Given the description of an element on the screen output the (x, y) to click on. 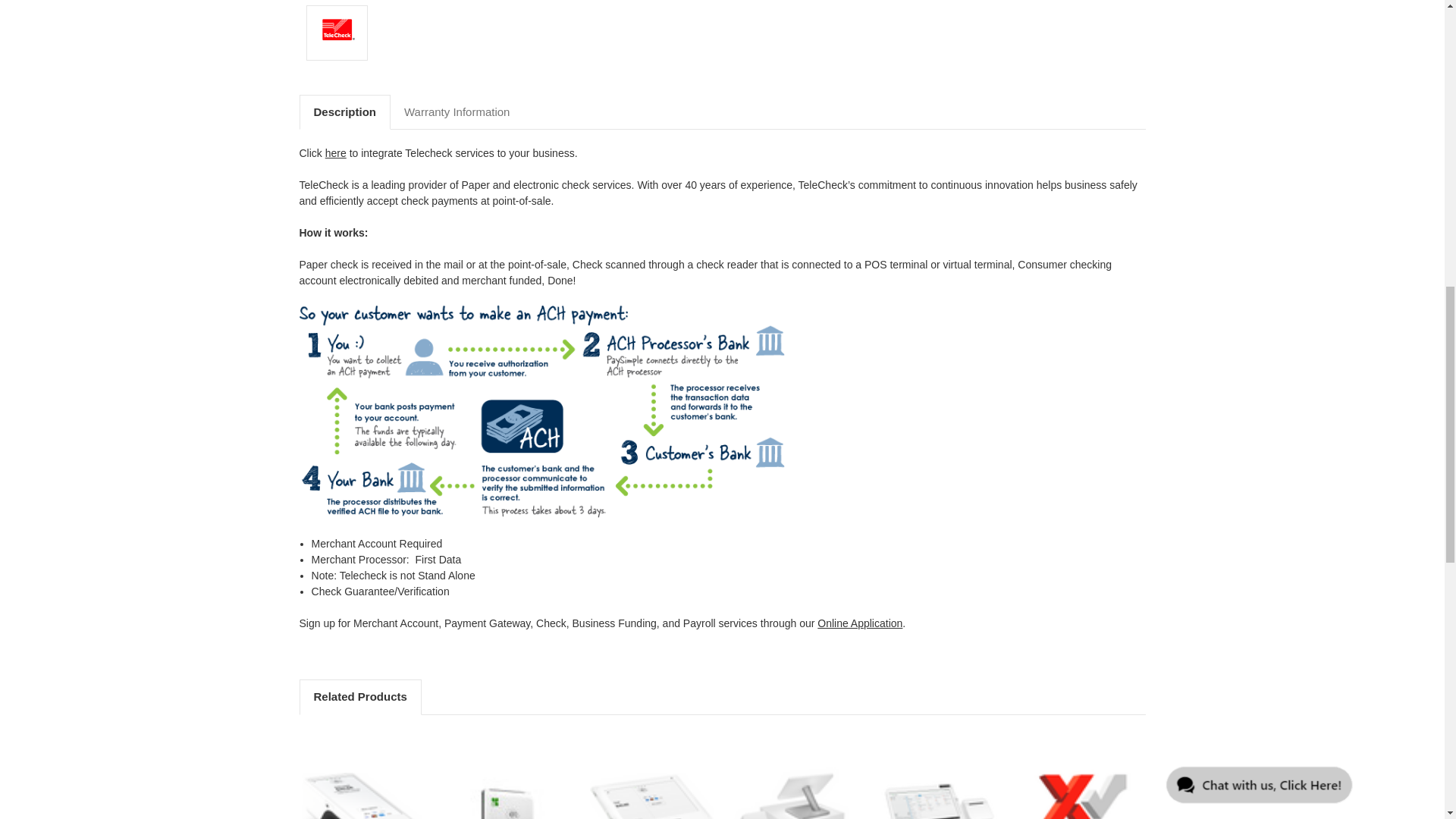
ach-flow.png (541, 412)
Clover Mini 3 LTE (651, 796)
Clover Station Duo (795, 791)
Clover Flex 3 (363, 796)
CrossCheck (1083, 791)
Clover Station Solo (939, 799)
Clover Go 3 (507, 785)
